Given the description of an element on the screen output the (x, y) to click on. 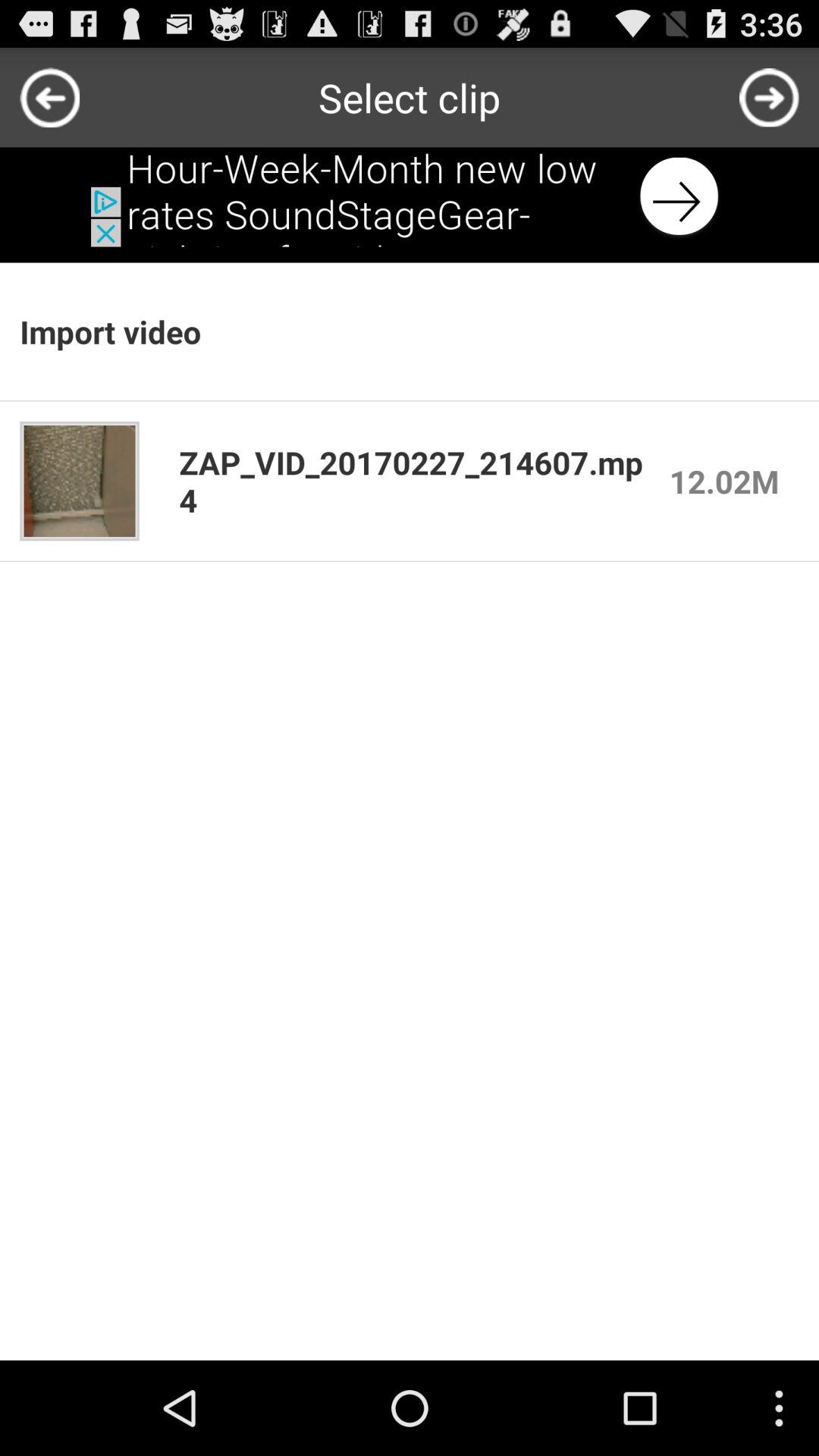
go back (49, 97)
